Given the description of an element on the screen output the (x, y) to click on. 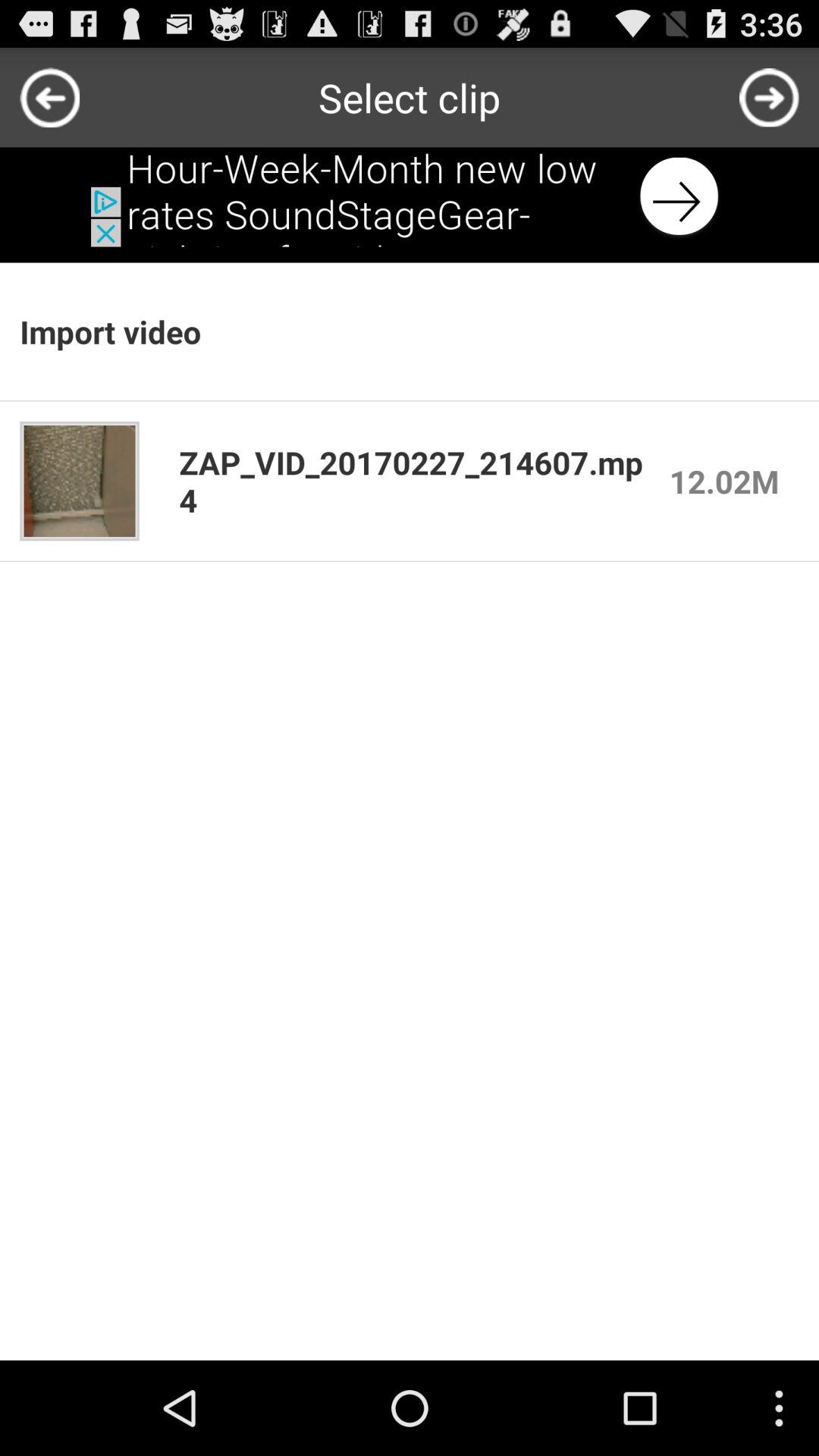
go back (49, 97)
